Given the description of an element on the screen output the (x, y) to click on. 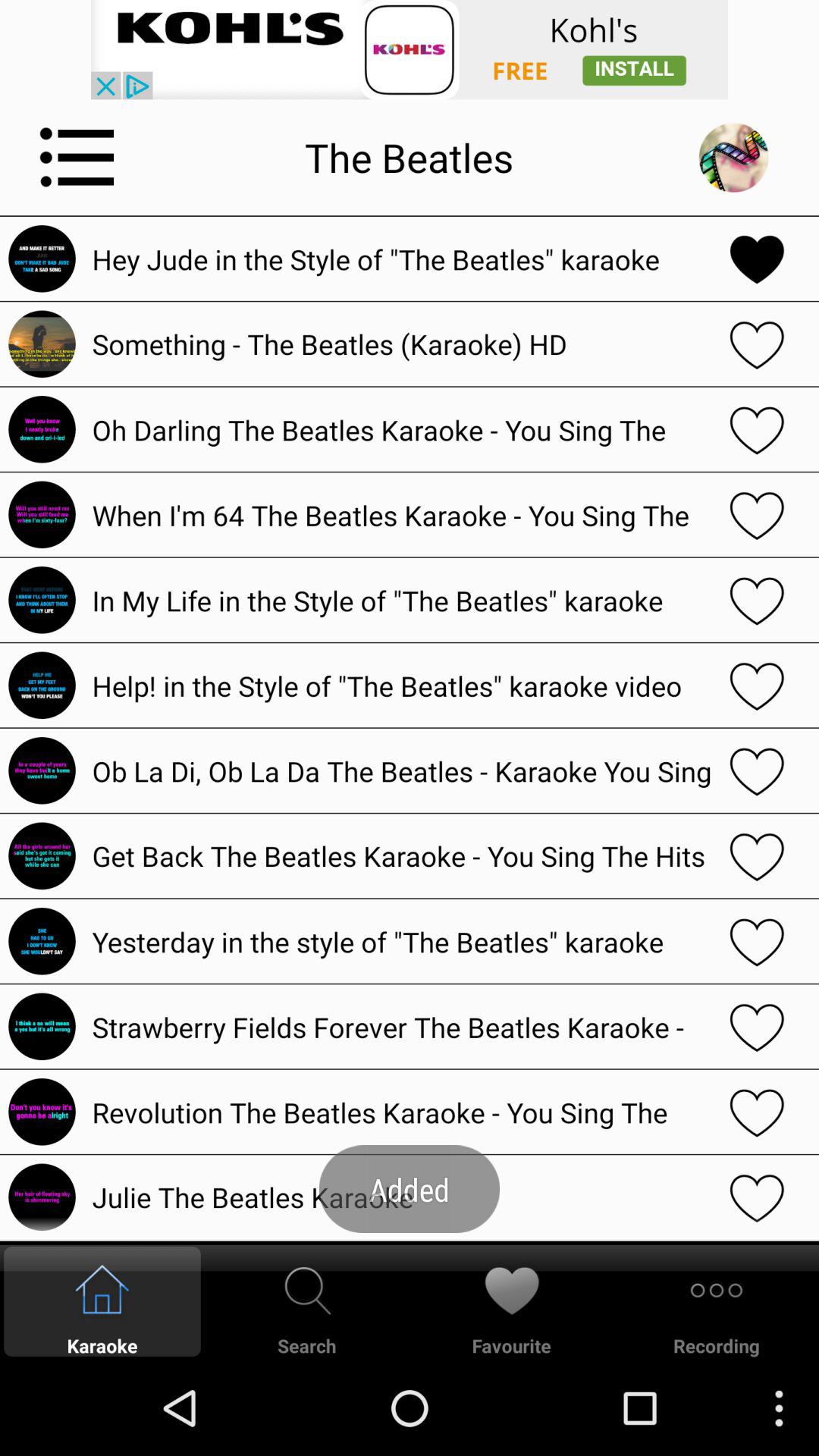
banner advertisement (409, 49)
